Given the description of an element on the screen output the (x, y) to click on. 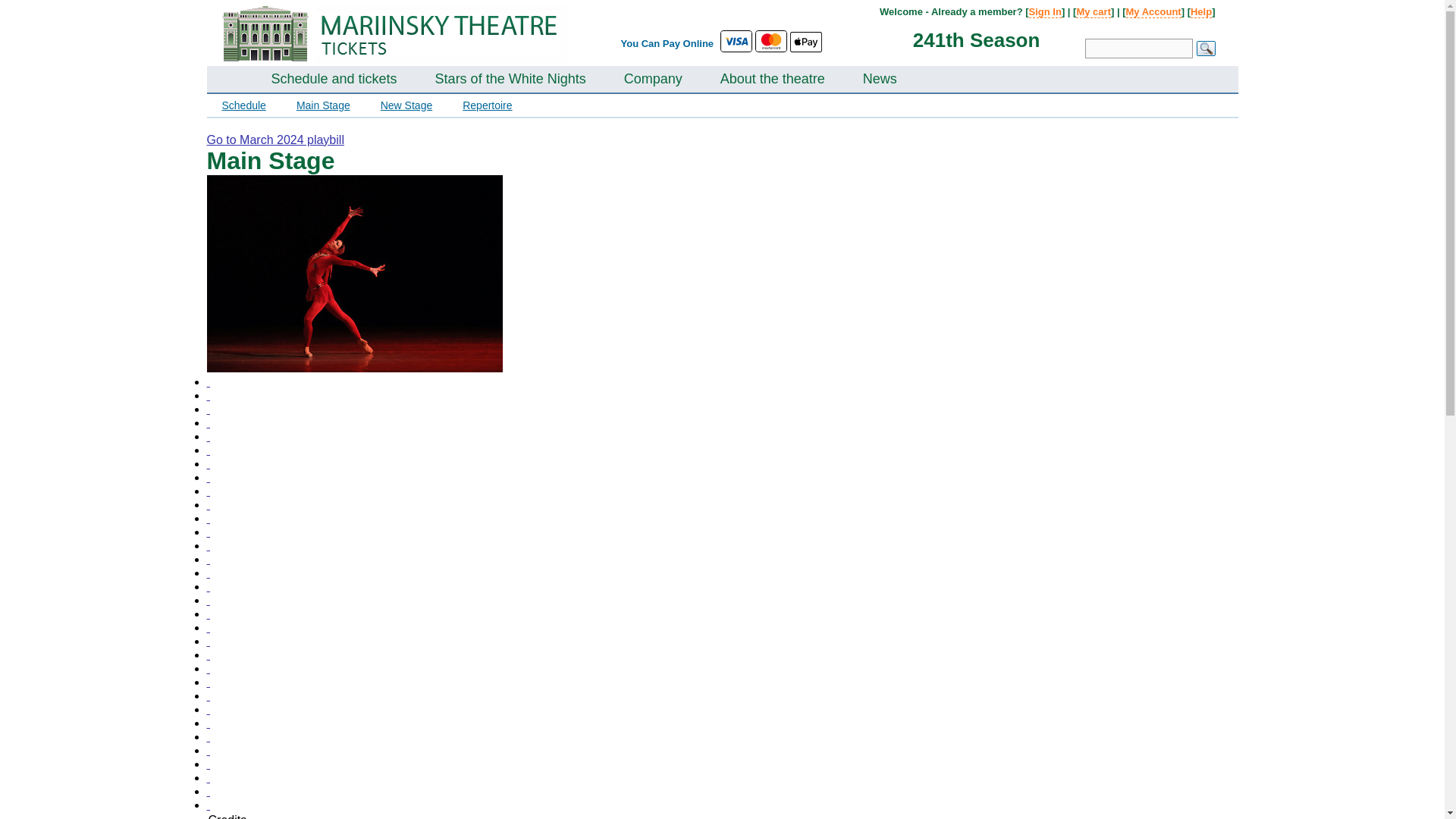
Help (1201, 11)
Go to March 2024 playbill (274, 139)
My Account (1152, 11)
Stars of the White Nights (510, 80)
About the theatre (772, 80)
